Given the description of an element on the screen output the (x, y) to click on. 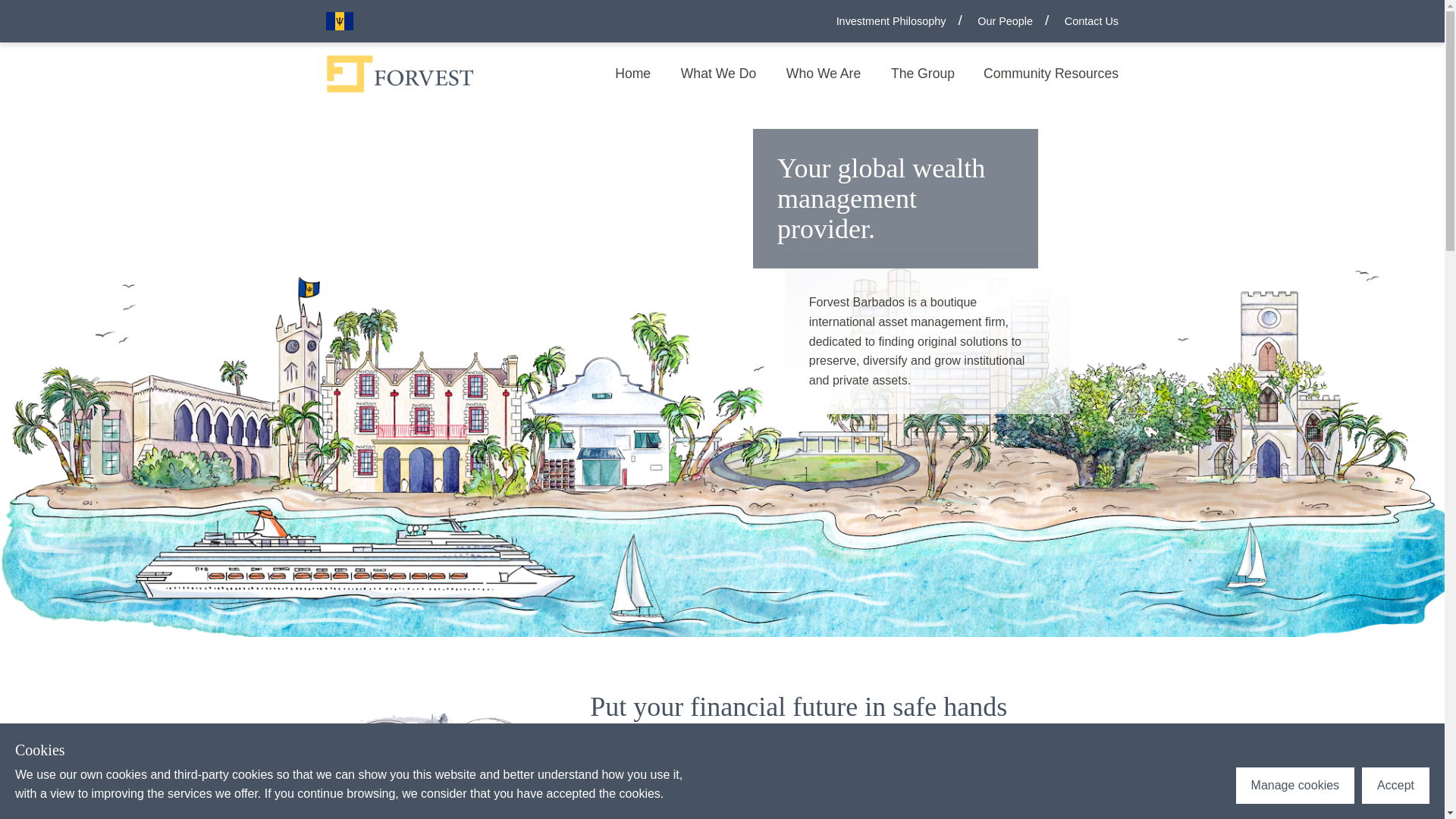
Manage cookies Element type: text (1295, 785)
Our People Element type: text (1018, 21)
The Group Element type: text (922, 73)
Community Resources Element type: text (1044, 73)
Investment Philosophy Element type: text (905, 21)
What We Do Element type: text (718, 73)
Region selector map Element type: hover (400, 73)
Who We Are Element type: text (823, 73)
Contact Us Element type: text (1091, 21)
Accept Element type: text (1395, 785)
Home Element type: text (633, 73)
